Given the description of an element on the screen output the (x, y) to click on. 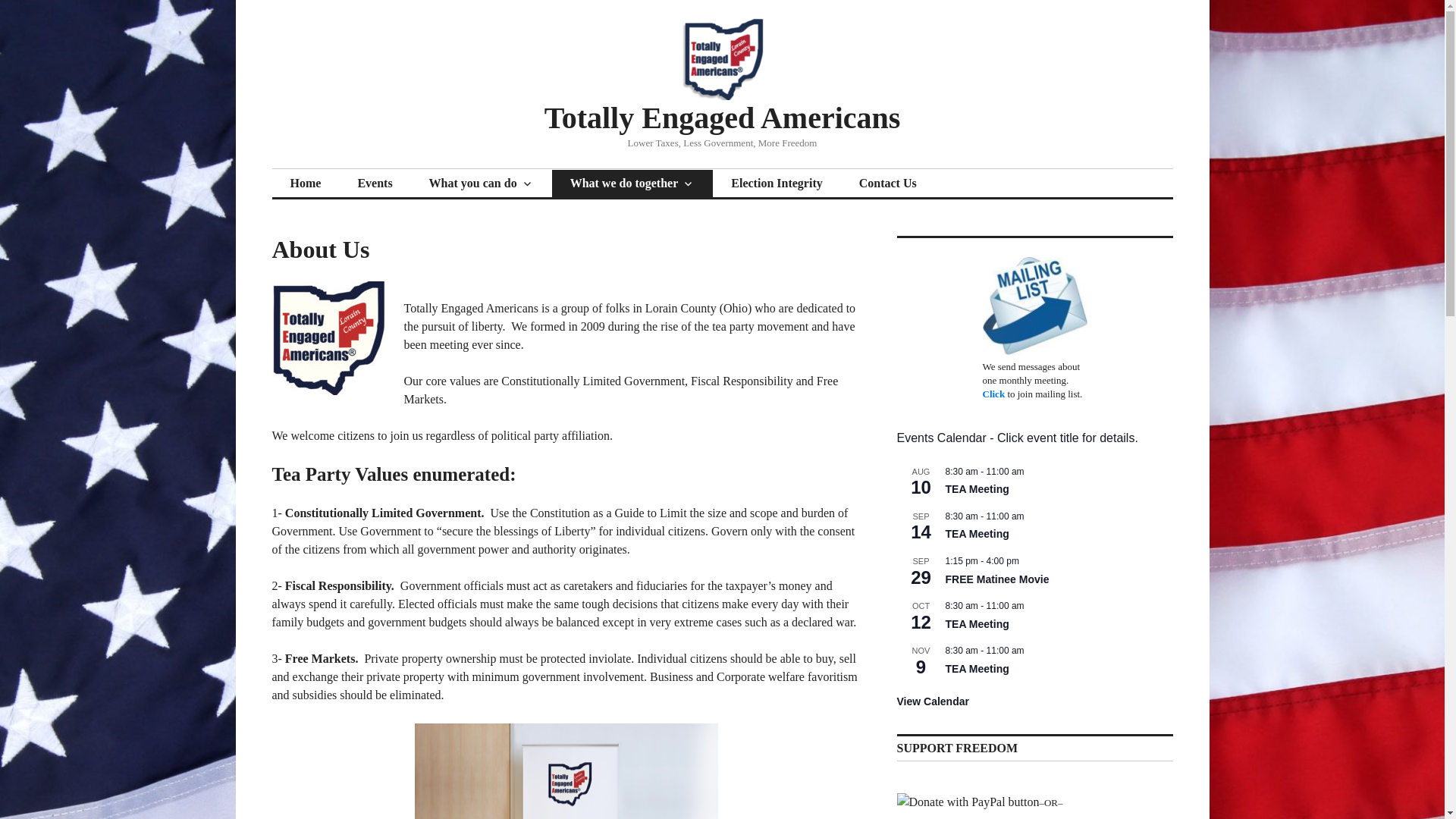
TEA Meeting (976, 533)
What you can do (480, 183)
TEA Meeting (976, 668)
Election Integrity (776, 183)
FREE Matinee Movie (996, 579)
Home (304, 183)
View Calendar (932, 701)
Events (374, 183)
TEA Meeting (976, 624)
TEA Meeting (976, 668)
TEA Meeting (976, 489)
Totally Engaged Americans (722, 117)
Search (8, 4)
TEA Meeting (976, 624)
TEA Meeting (976, 533)
